Given the description of an element on the screen output the (x, y) to click on. 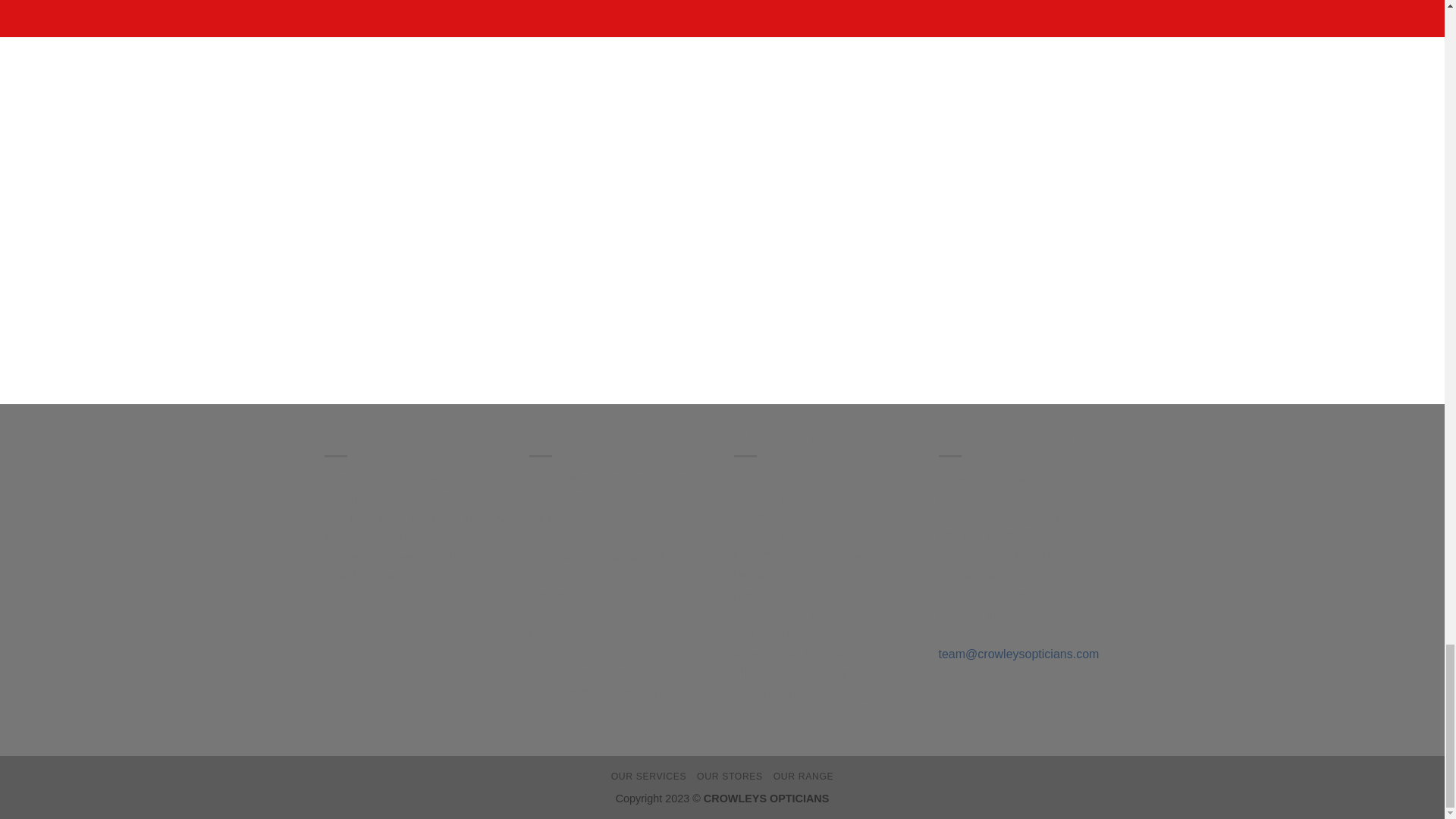
OUR RANGE (803, 776)
OUR SERVICES (649, 776)
OUR STORES (729, 776)
